Given the description of an element on the screen output the (x, y) to click on. 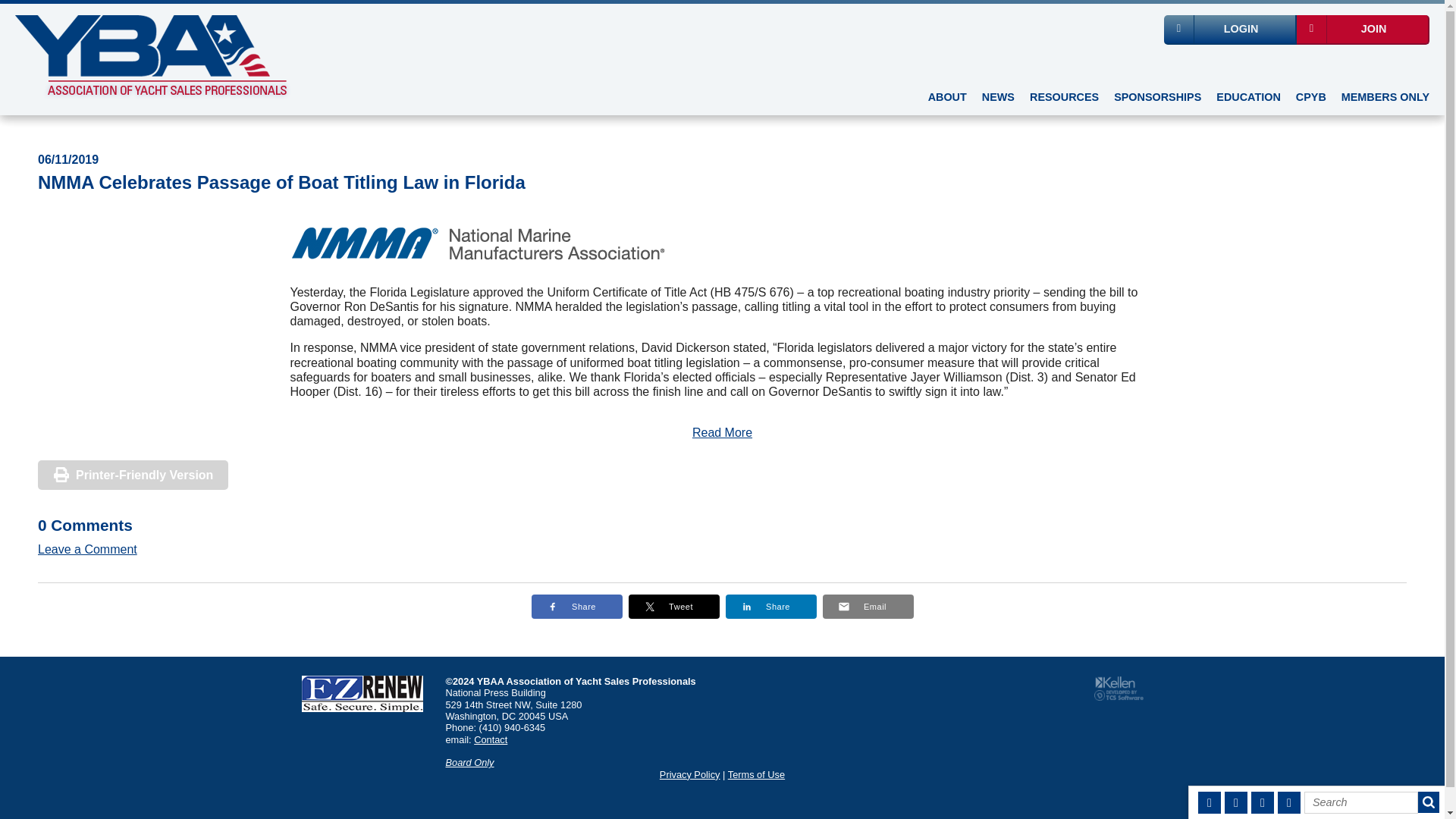
Read More (722, 431)
NEWS (998, 99)
LOGIN (1230, 30)
Board Only (470, 762)
Contact (490, 739)
SPONSORSHIPS (1157, 99)
Privacy Policy (689, 774)
ABOUT (947, 99)
Leave a Comment (86, 549)
MEMBERS ONLY (1385, 99)
RESOURCES (1064, 99)
Search (1361, 802)
CPYB (1310, 99)
JOIN (1363, 30)
EDUCATION (1247, 99)
